Given the description of an element on the screen output the (x, y) to click on. 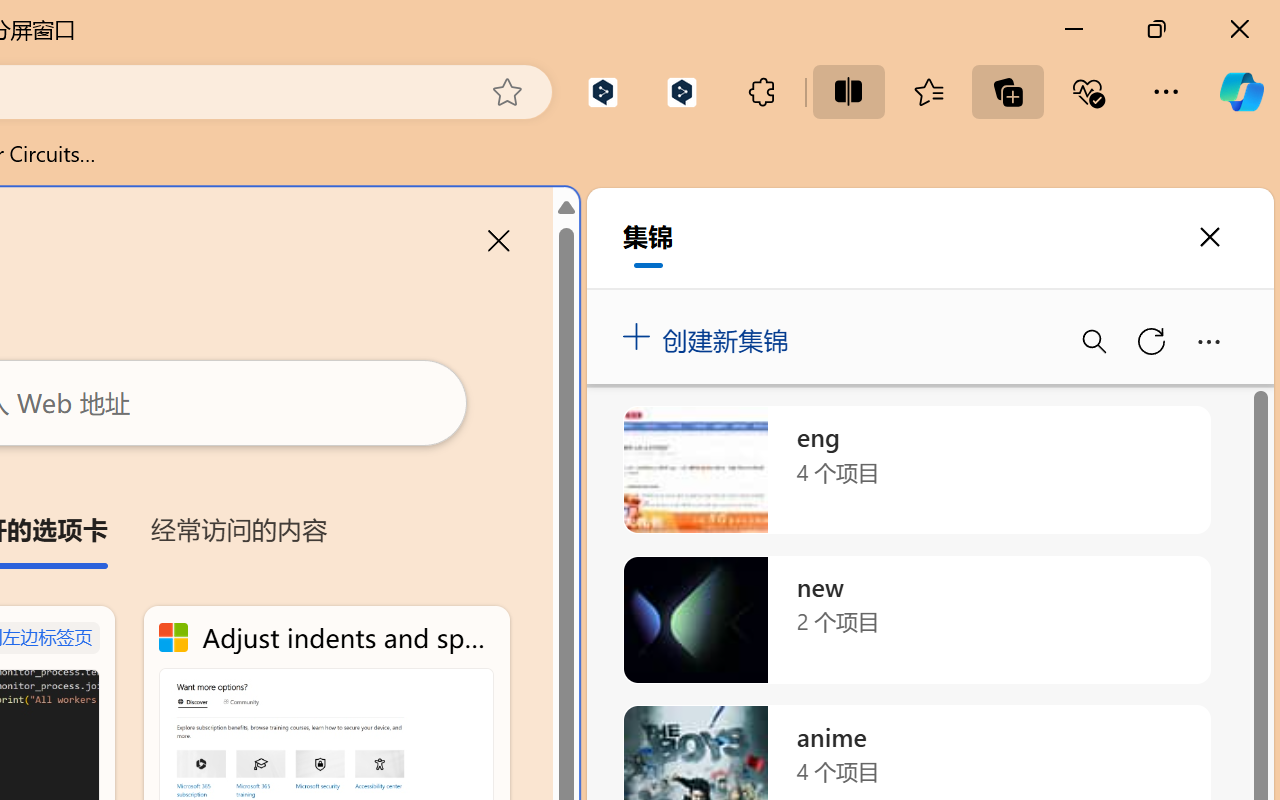
Copilot (Ctrl+Shift+.) (1241, 91)
